Given the description of an element on the screen output the (x, y) to click on. 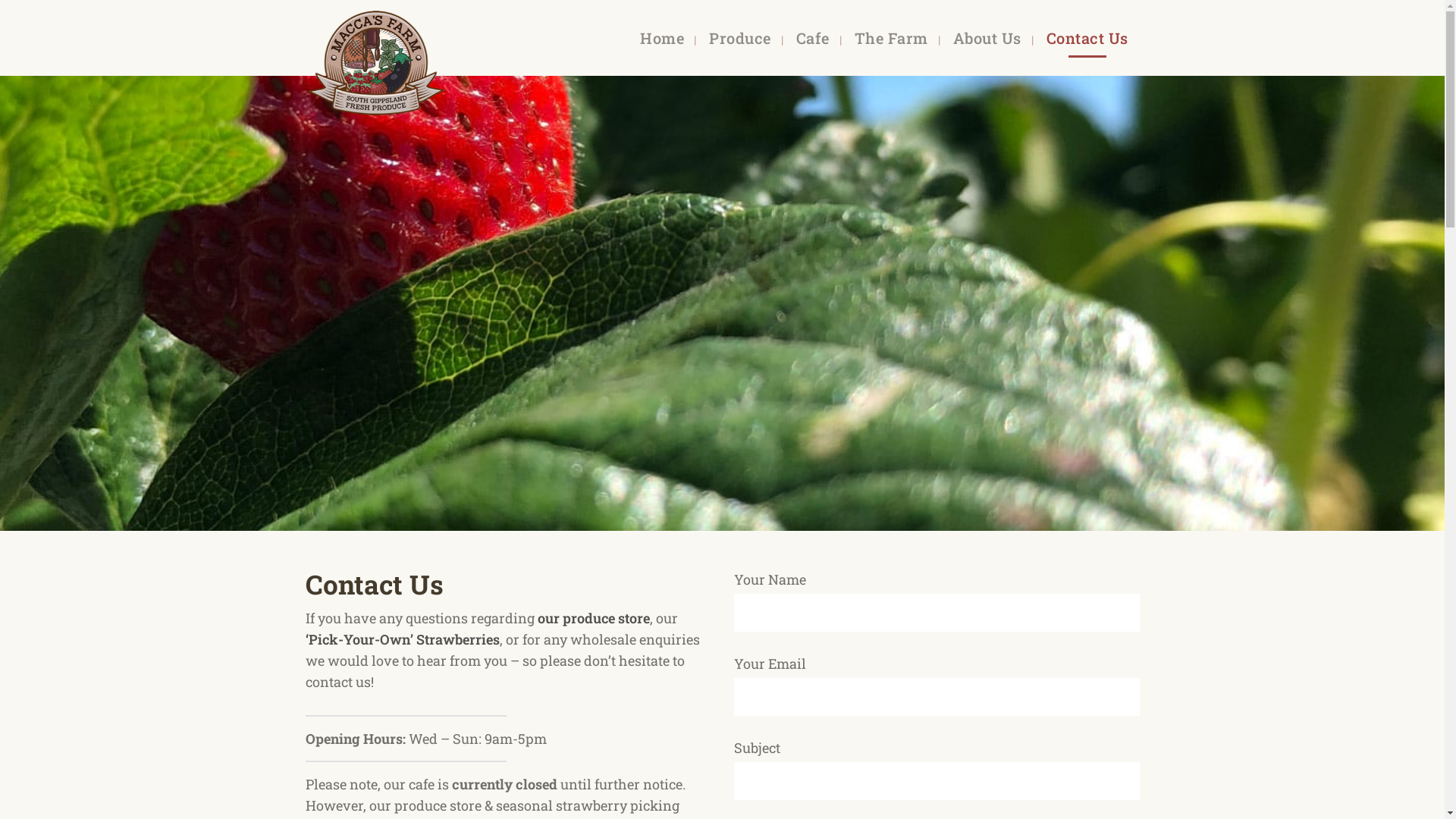
About Us Element type: text (986, 37)
The Farm Element type: text (891, 37)
Cafe Element type: text (812, 37)
Produce Element type: text (739, 37)
our produce store Element type: text (592, 617)
Contact Us Element type: text (1086, 37)
Home Element type: text (661, 37)
